Given the description of an element on the screen output the (x, y) to click on. 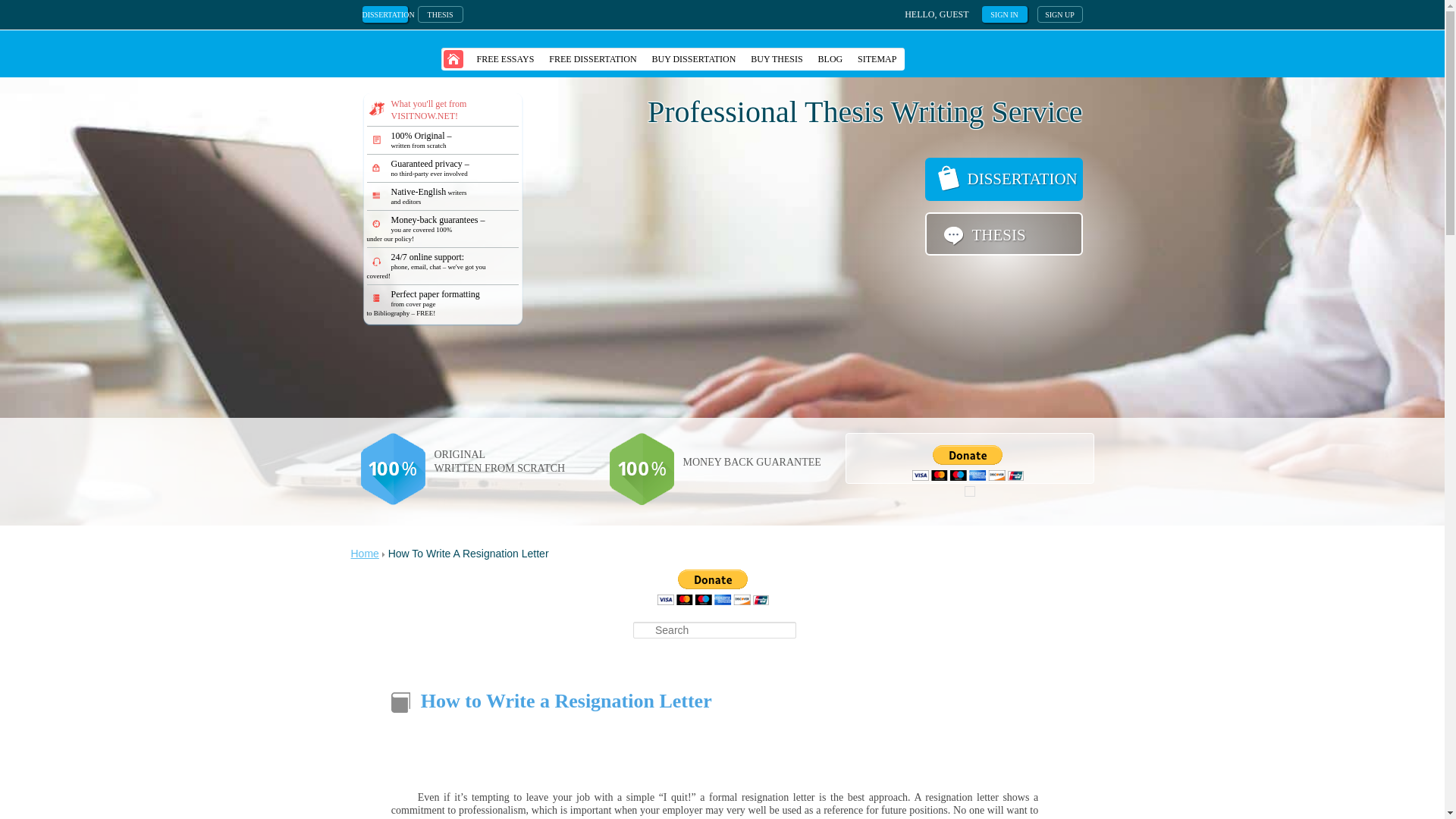
FREE DISSERTATION (592, 58)
How to Write a Resignation Letter (565, 700)
Home (364, 553)
How to Write a Resignation Letter (565, 700)
BUY THESIS (776, 58)
BUY DISSERTATION (694, 58)
FREE ESSAYS (505, 58)
BLOG (830, 58)
Search (22, 7)
SITEMAP (876, 58)
